Given the description of an element on the screen output the (x, y) to click on. 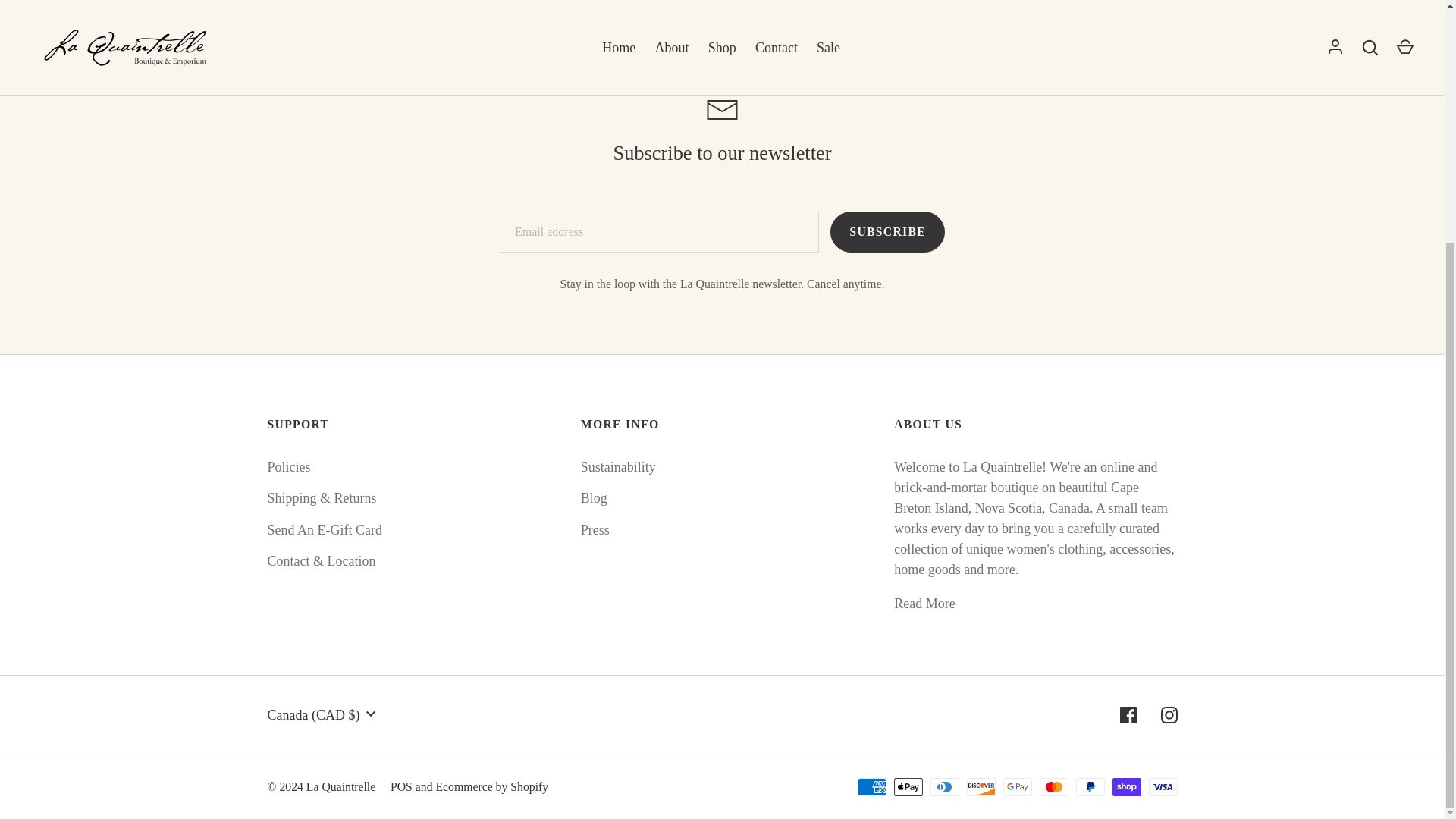
Down (370, 714)
About Us (924, 603)
Email (722, 109)
